Given the description of an element on the screen output the (x, y) to click on. 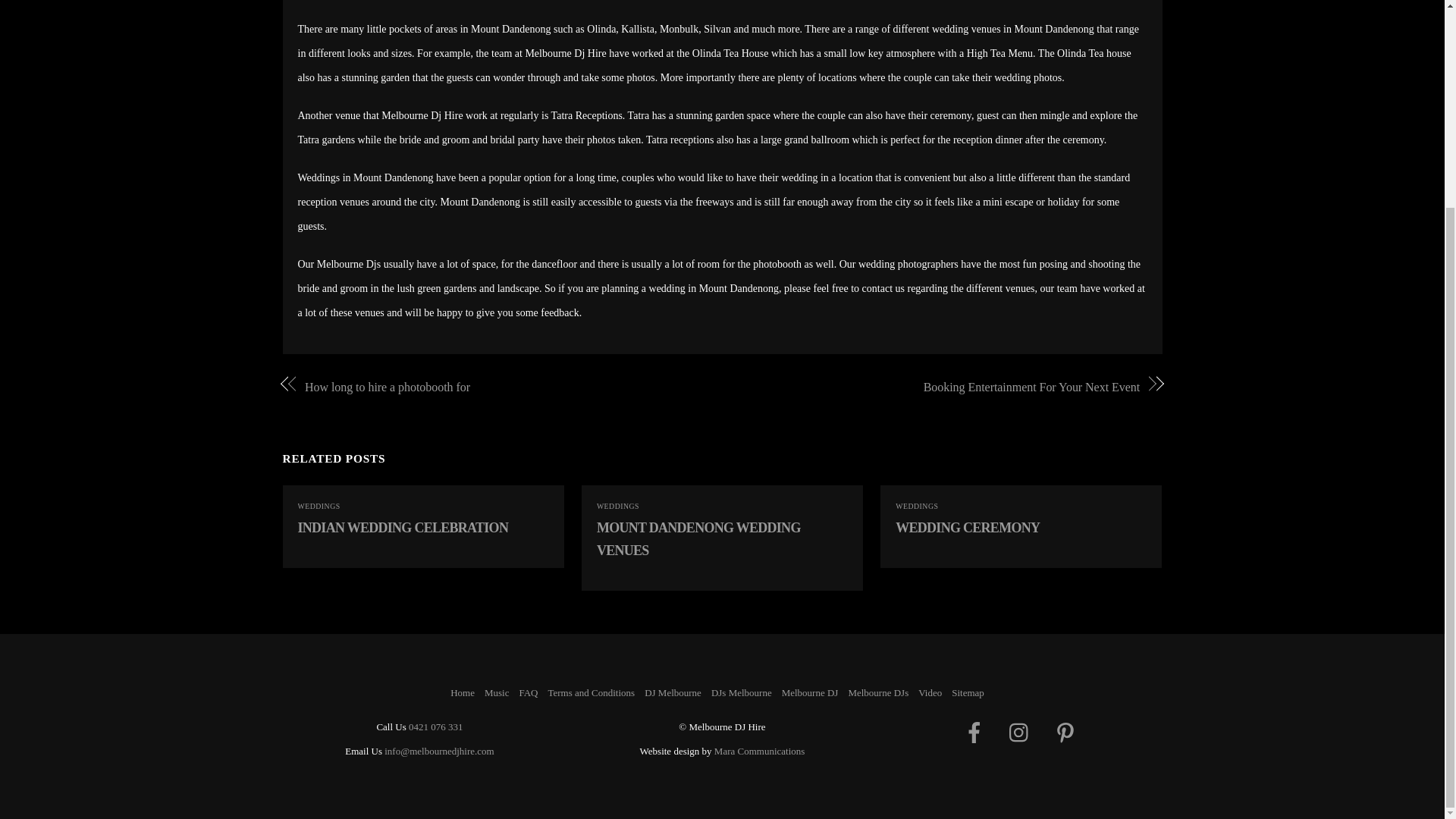
WEDDINGS (318, 506)
How long to hire a photobooth for (499, 387)
DJ Melbourne (673, 692)
WEDDINGS (916, 506)
Music (496, 692)
FAQ (527, 692)
Home (461, 692)
Terms and Conditions (590, 692)
WEDDING CEREMONY (967, 527)
Booking Entertainment For Your Next Event (944, 387)
INDIAN WEDDING CELEBRATION (402, 527)
DJs Melbourne (741, 692)
Melbourne DJs (877, 692)
MOUNT DANDENONG WEDDING VENUES (698, 538)
Melbourne DJ (809, 692)
